Given the description of an element on the screen output the (x, y) to click on. 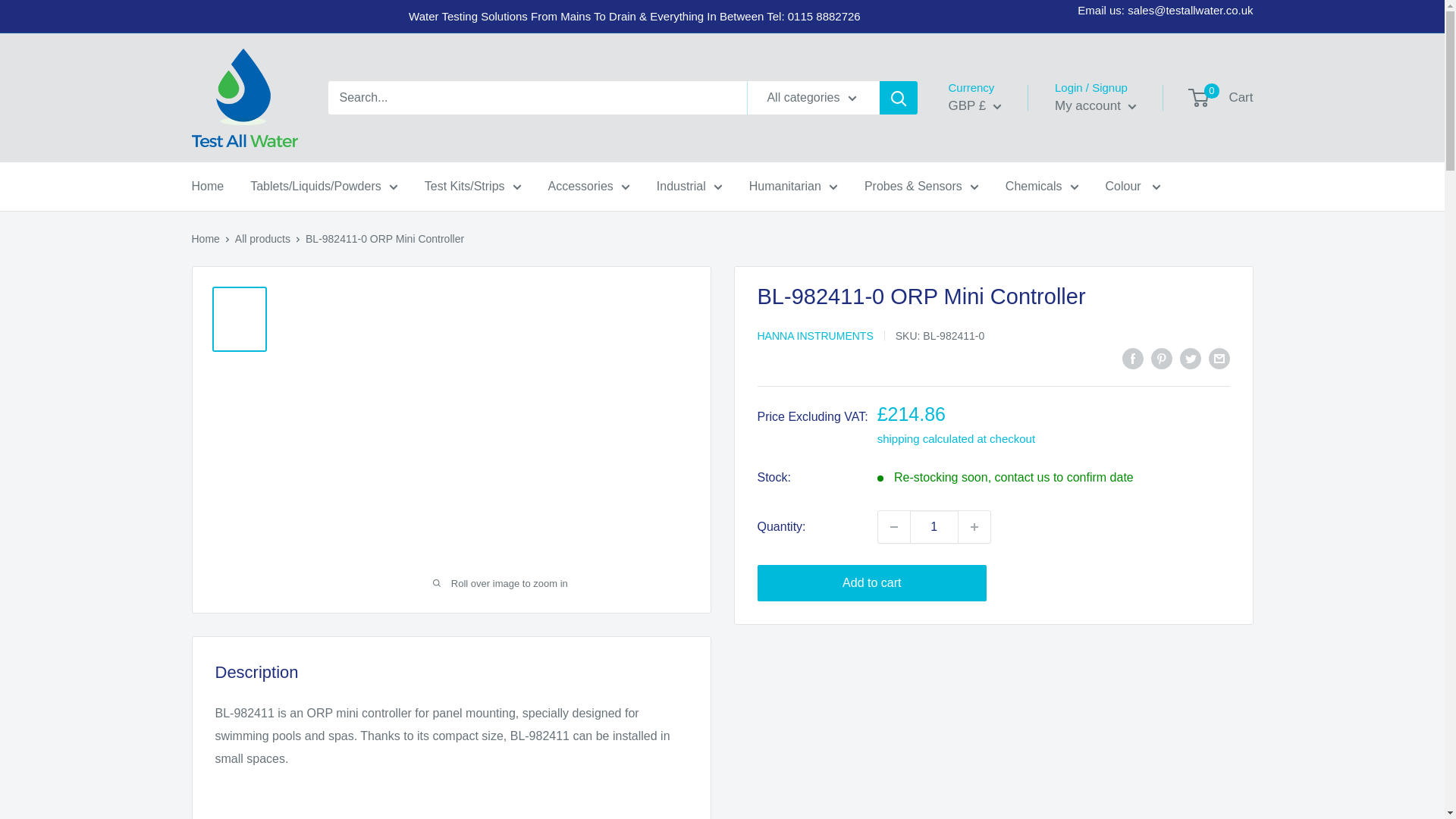
Increase quantity by 1 (974, 526)
Decrease quantity by 1 (893, 526)
1 (934, 526)
